Given the description of an element on the screen output the (x, y) to click on. 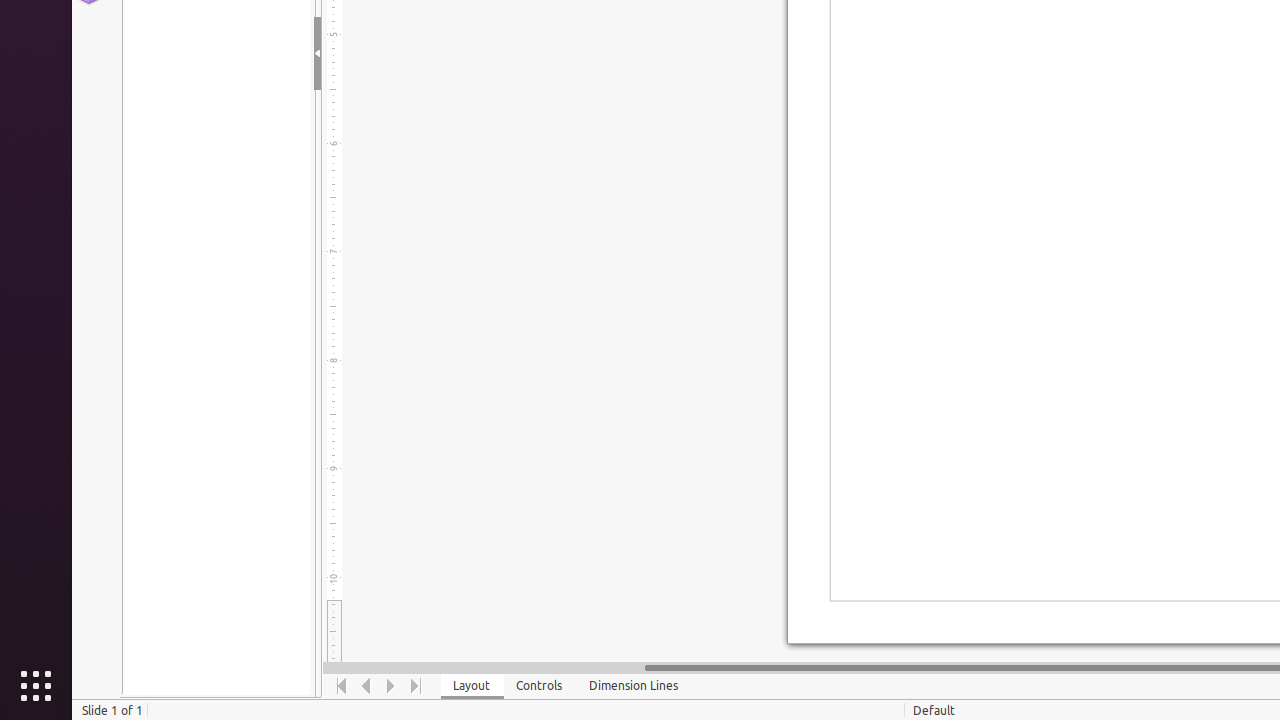
Show Applications Element type: toggle-button (36, 686)
Dimension Lines Element type: page-tab (634, 686)
Controls Element type: page-tab (540, 686)
